Given the description of an element on the screen output the (x, y) to click on. 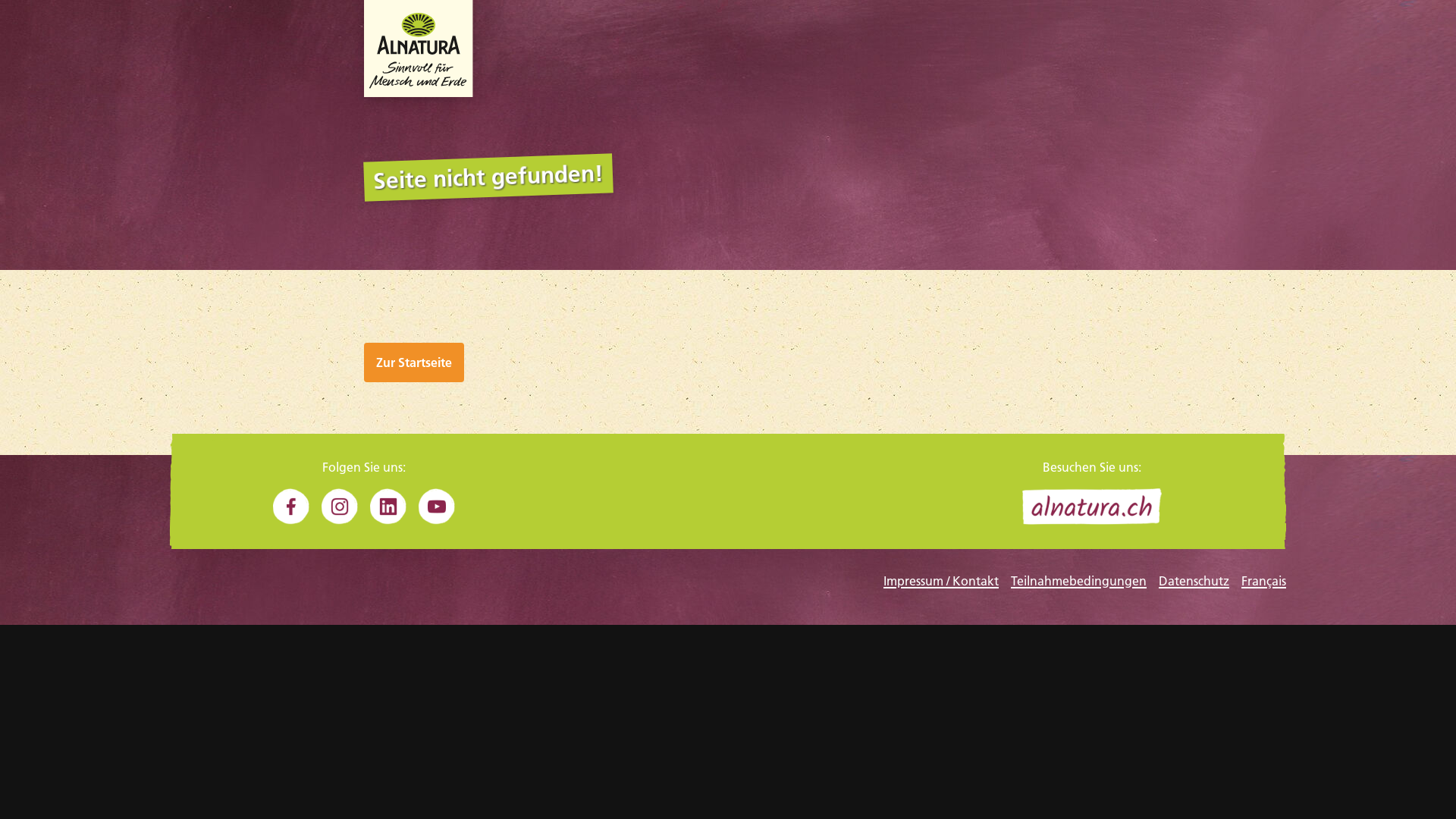
Zur Startseite Element type: text (414, 362)
Datenschutz Element type: text (1193, 580)
Teilnahmebedingungen Element type: text (1078, 580)
Impressum / Kontakt Element type: text (940, 580)
